Given the description of an element on the screen output the (x, y) to click on. 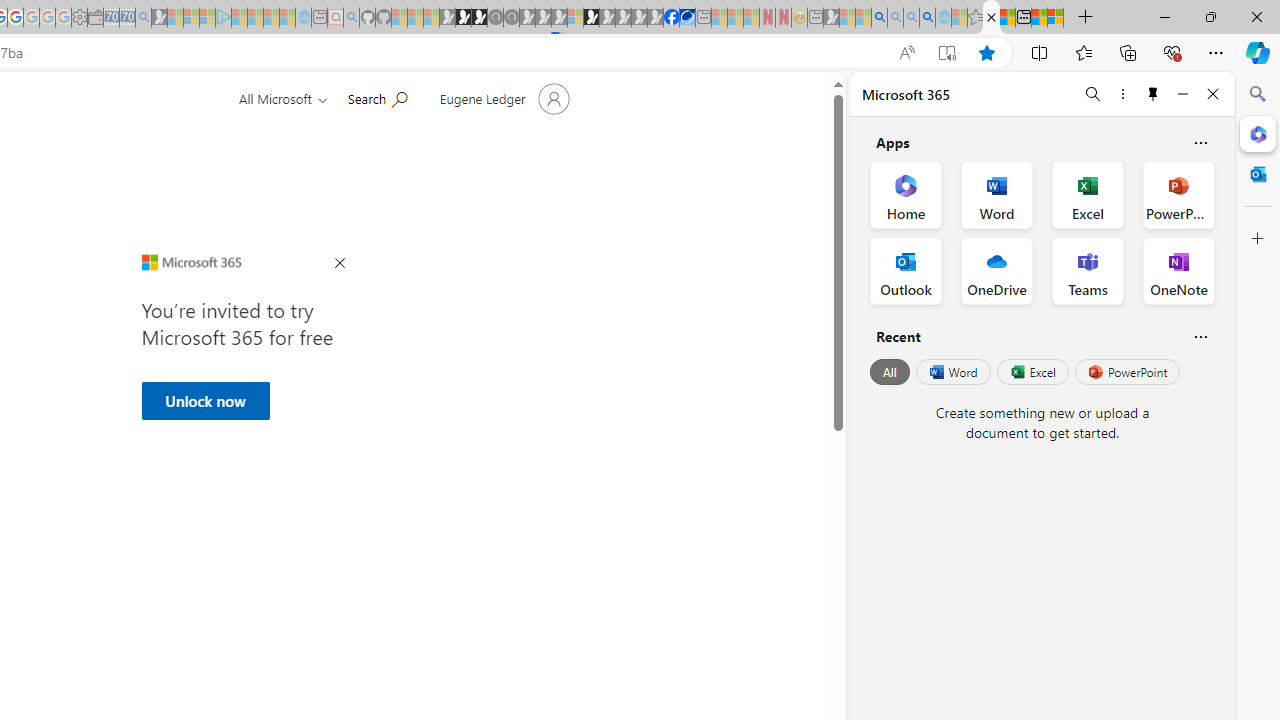
Microsoft Start Gaming - Sleeping (159, 17)
Enter Immersive Reader (F9) (946, 53)
Excel (1031, 372)
Unlock now (205, 399)
Close Microsoft 365 pane (1258, 133)
